Given the description of an element on the screen output the (x, y) to click on. 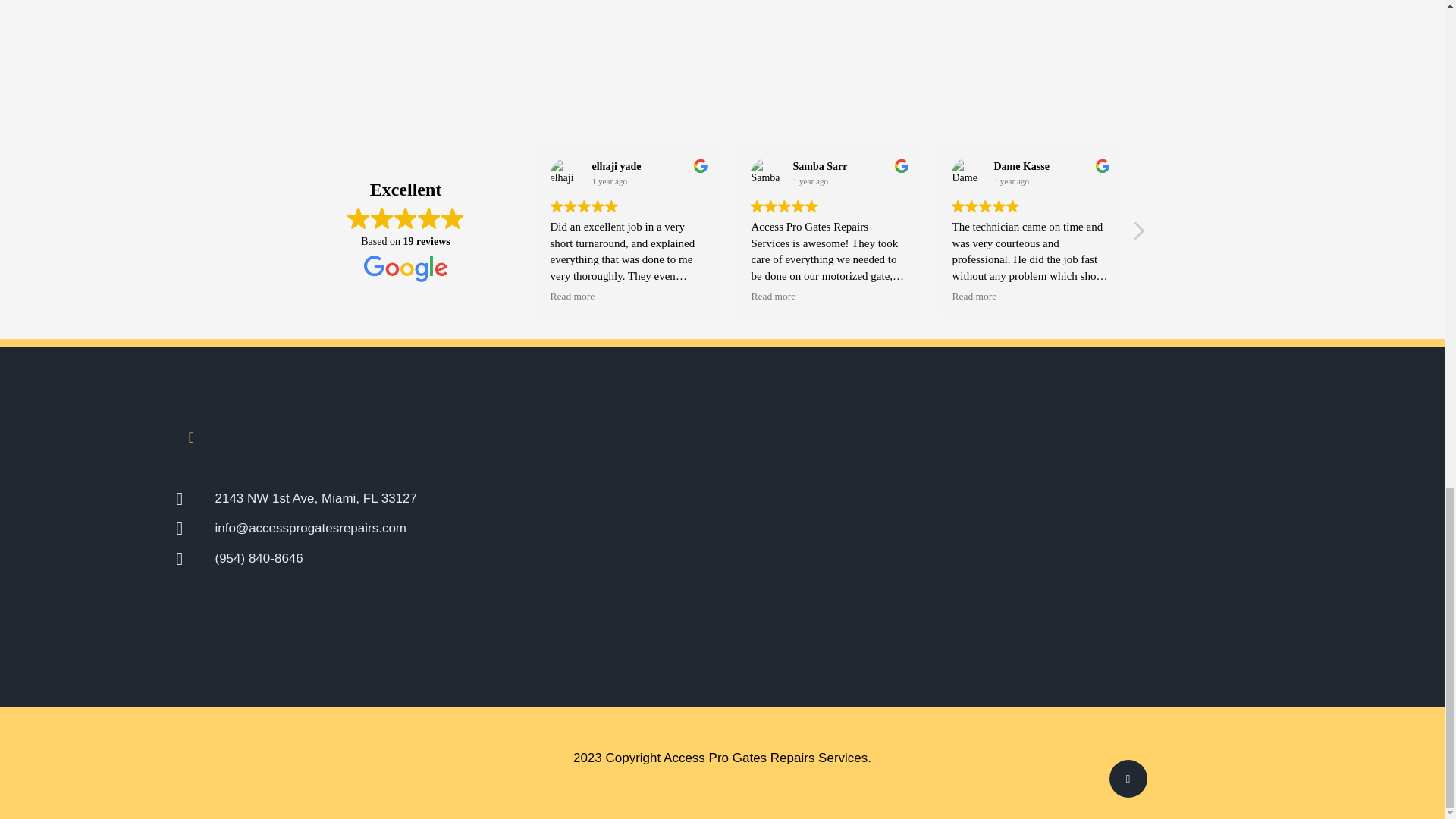
Access Pro Gates Repairs Services (765, 757)
2143 NW 1st Ave, Miami, FL 33127 (408, 498)
Facebook (191, 437)
